Given the description of an element on the screen output the (x, y) to click on. 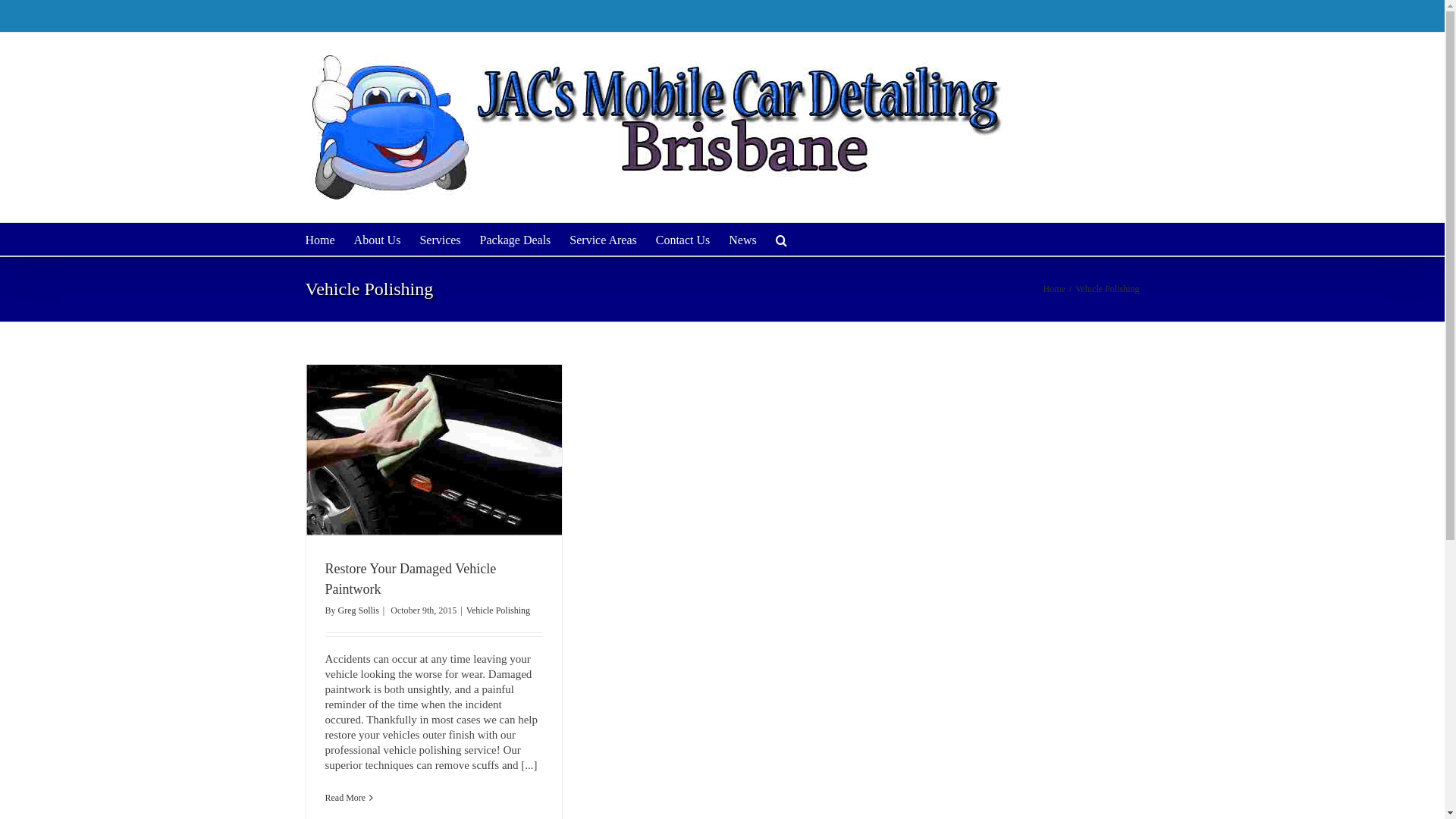
Home Element type: text (1054, 288)
Greg Sollis Element type: text (358, 610)
News Element type: text (742, 238)
Vehicle Polishing Element type: text (498, 610)
Home Element type: text (319, 238)
Read More Element type: text (344, 797)
Contact Us Element type: text (682, 238)
Restore Your Damaged Vehicle Paintwork Element type: text (409, 578)
Services Element type: text (439, 238)
Service Areas Element type: text (602, 238)
Package Deals Element type: text (515, 238)
About Us Element type: text (377, 238)
